Given the description of an element on the screen output the (x, y) to click on. 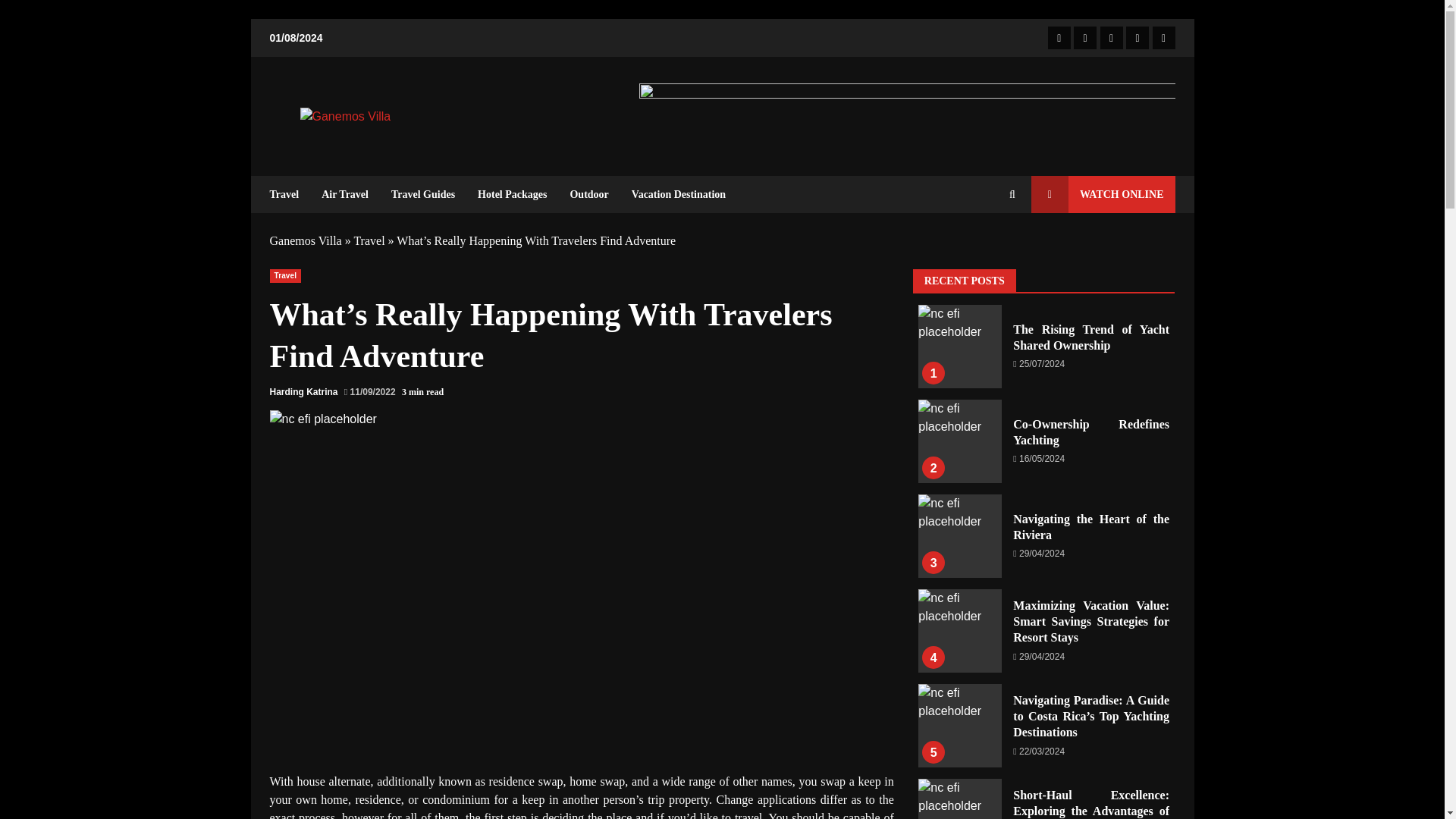
Navigating the Heart of the Riviera (959, 536)
Co-Ownership Redefines Yachting (959, 441)
The Rising Trend of Yacht Shared Ownership (1091, 337)
Ganemos Villa (305, 240)
The Rising Trend of Yacht Shared Ownership (959, 346)
Travel Guides (422, 194)
Co-Ownership Redefines Yachting (1091, 431)
Vacation Destination (672, 194)
Navigating the Heart of the Riviera (959, 536)
The Rising Trend of Yacht Shared Ownership (959, 346)
Harding Katrina (303, 391)
Travel (290, 194)
Travel (285, 275)
